Given the description of an element on the screen output the (x, y) to click on. 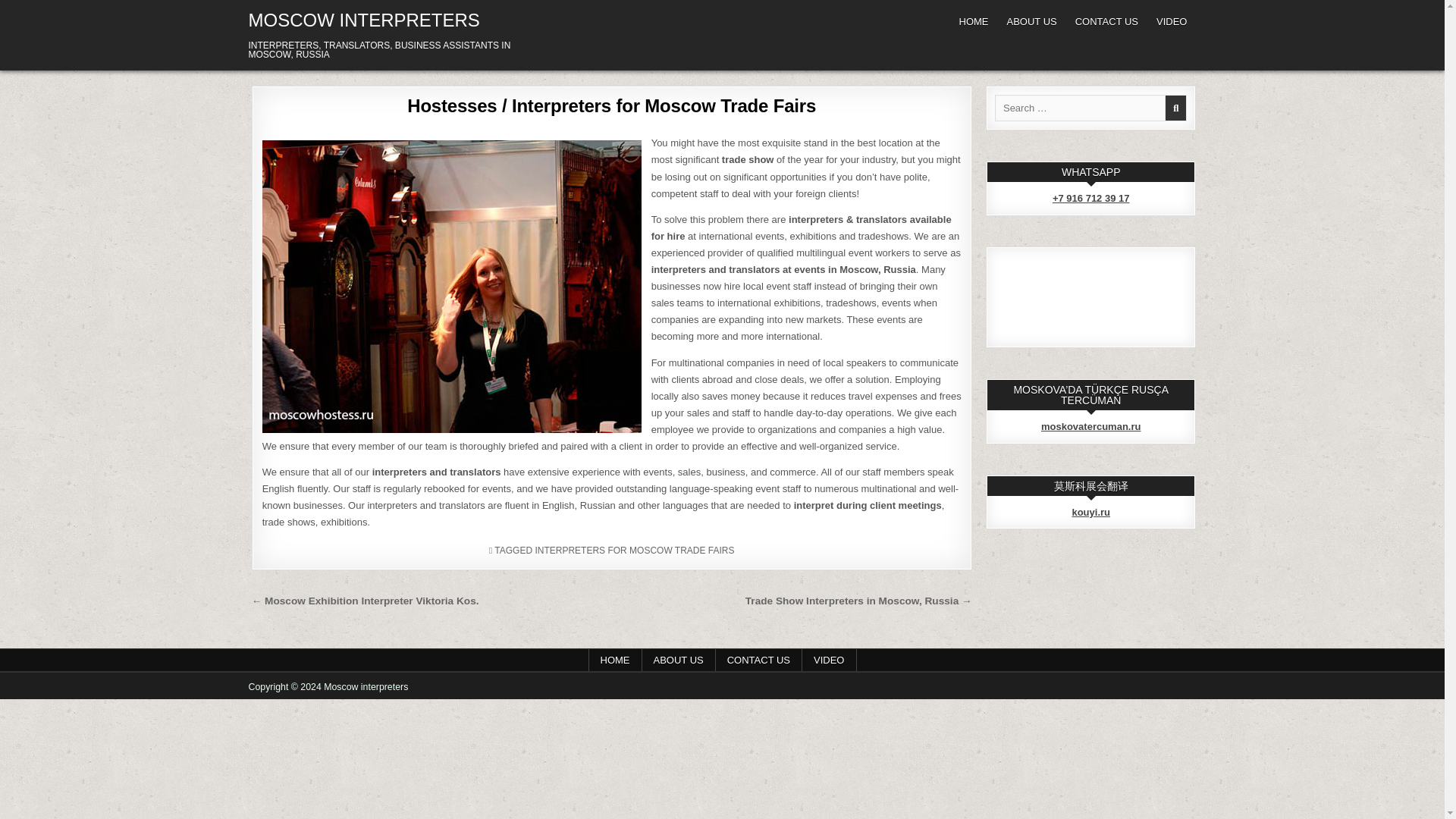
CONTACT US (759, 659)
moskovatercuman.ru (1091, 426)
VIDEO (829, 659)
HOME (973, 21)
kouyi.ru (1090, 511)
INTERPRETERS FOR MOSCOW TRADE FAIRS (633, 550)
ABOUT US (1031, 21)
HOME (615, 659)
VIDEO (1171, 21)
CONTACT US (1106, 21)
